Given the description of an element on the screen output the (x, y) to click on. 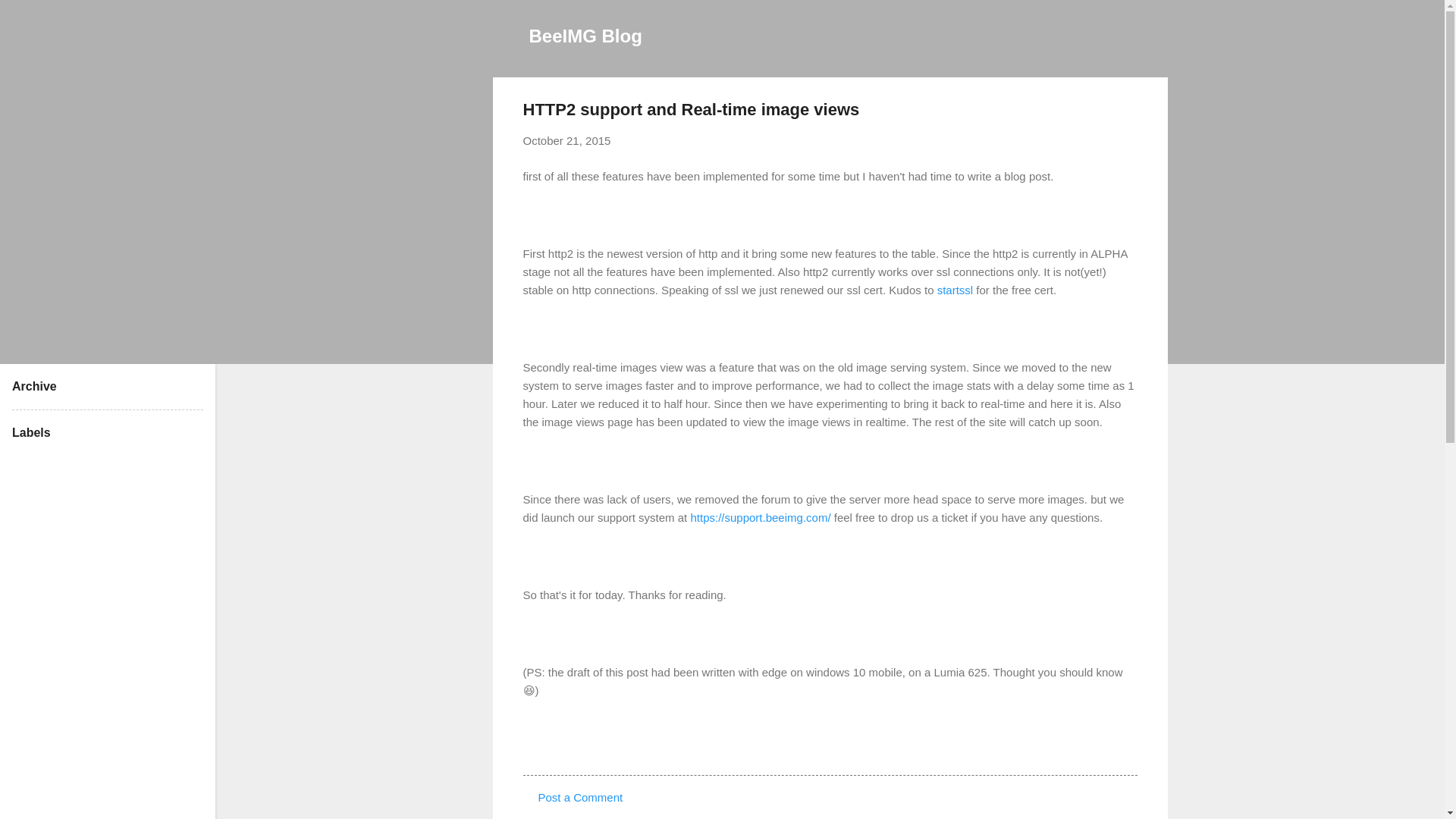
BeeIMG Blog (585, 35)
October 21, 2015 (566, 140)
permanent link (566, 140)
startssl (955, 289)
Search (29, 18)
Post a Comment (580, 797)
